Given the description of an element on the screen output the (x, y) to click on. 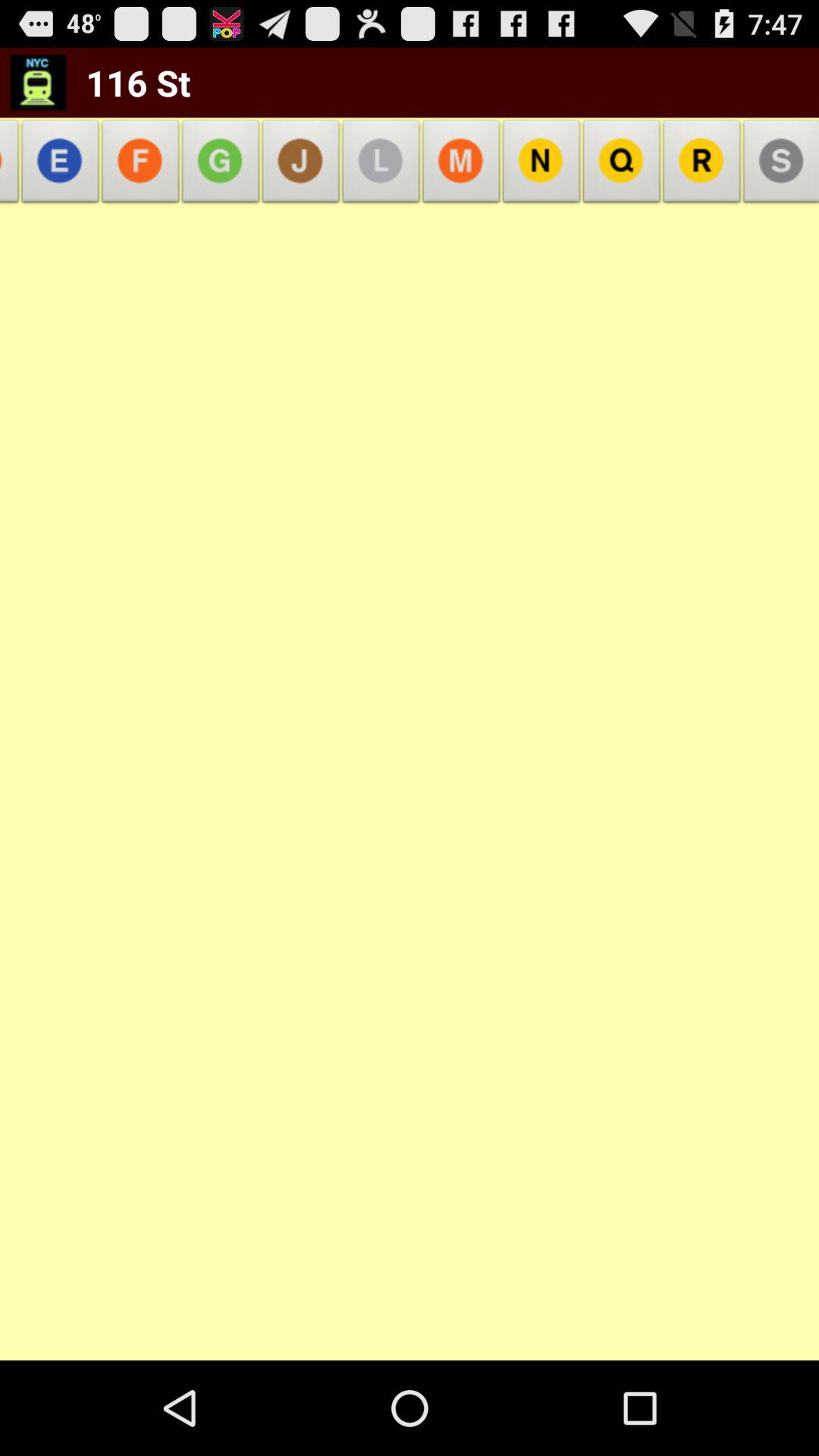
select item next to 116 st app (13, 165)
